Given the description of an element on the screen output the (x, y) to click on. 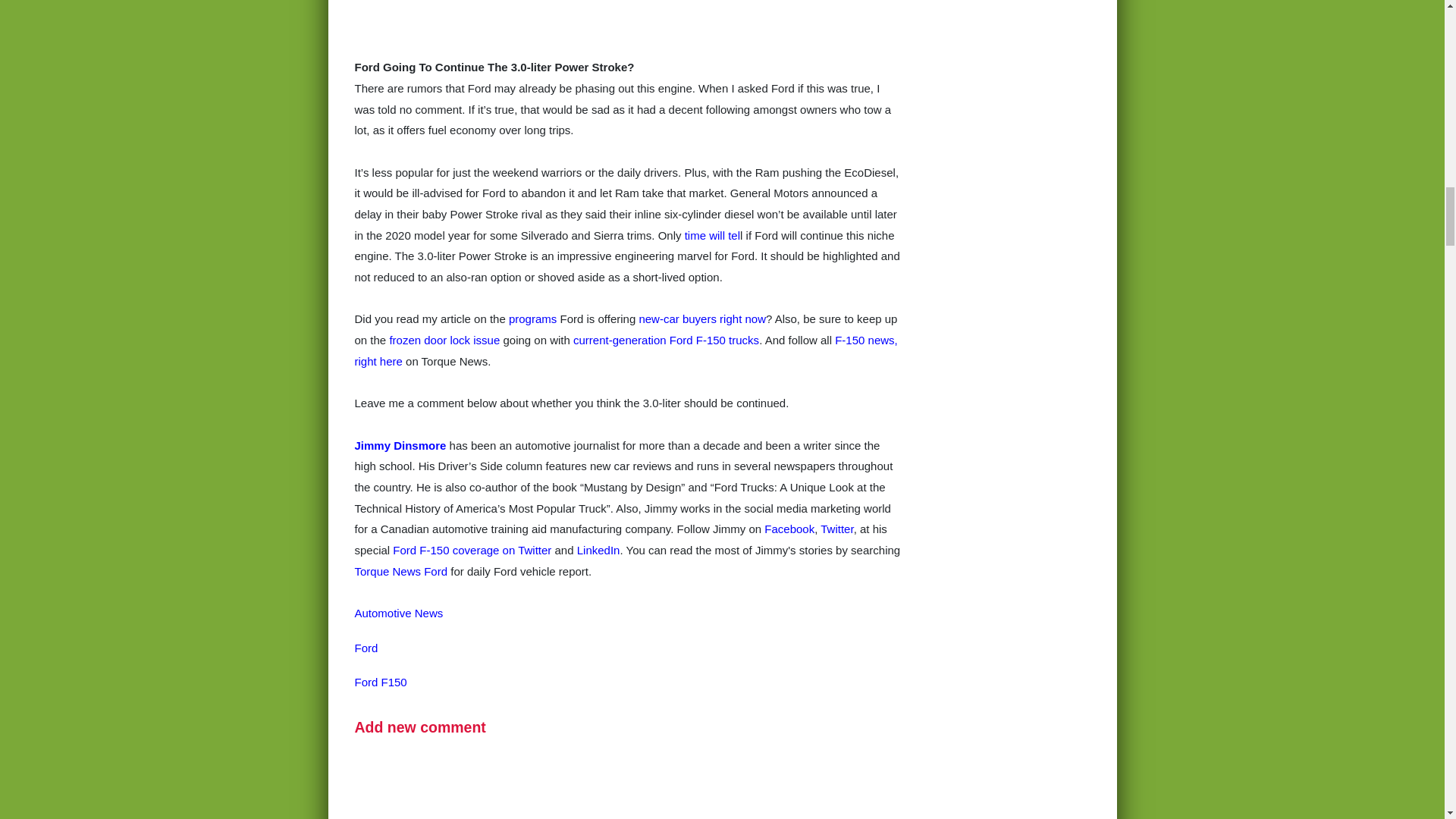
Jimmy Dinsmore (400, 444)
time will tel (711, 235)
Facebook (788, 528)
Automotive News (399, 612)
Share your thoughts and opinions. (420, 727)
current-generation Ford F-150 trucks (665, 339)
programs (532, 318)
Add new comment (420, 727)
Ford F-150 coverage on Twitter (472, 549)
F-150 news, right here (626, 350)
